Given the description of an element on the screen output the (x, y) to click on. 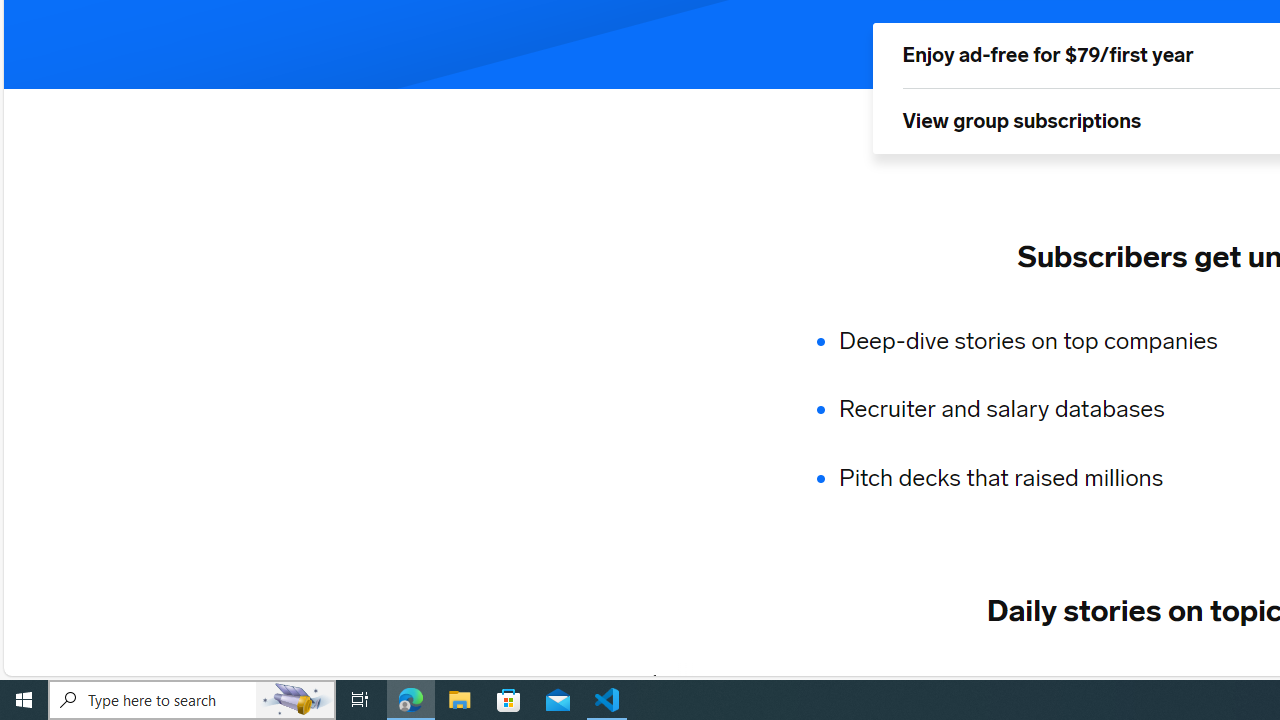
RETAIL (959, 681)
TECH (708, 681)
Recruiter and salary databases (1040, 409)
ADVERTISING (830, 681)
FINANCE (1068, 681)
Pitch decks that raised millions (1040, 478)
Deep-dive stories on top companies (1040, 340)
